Given the description of an element on the screen output the (x, y) to click on. 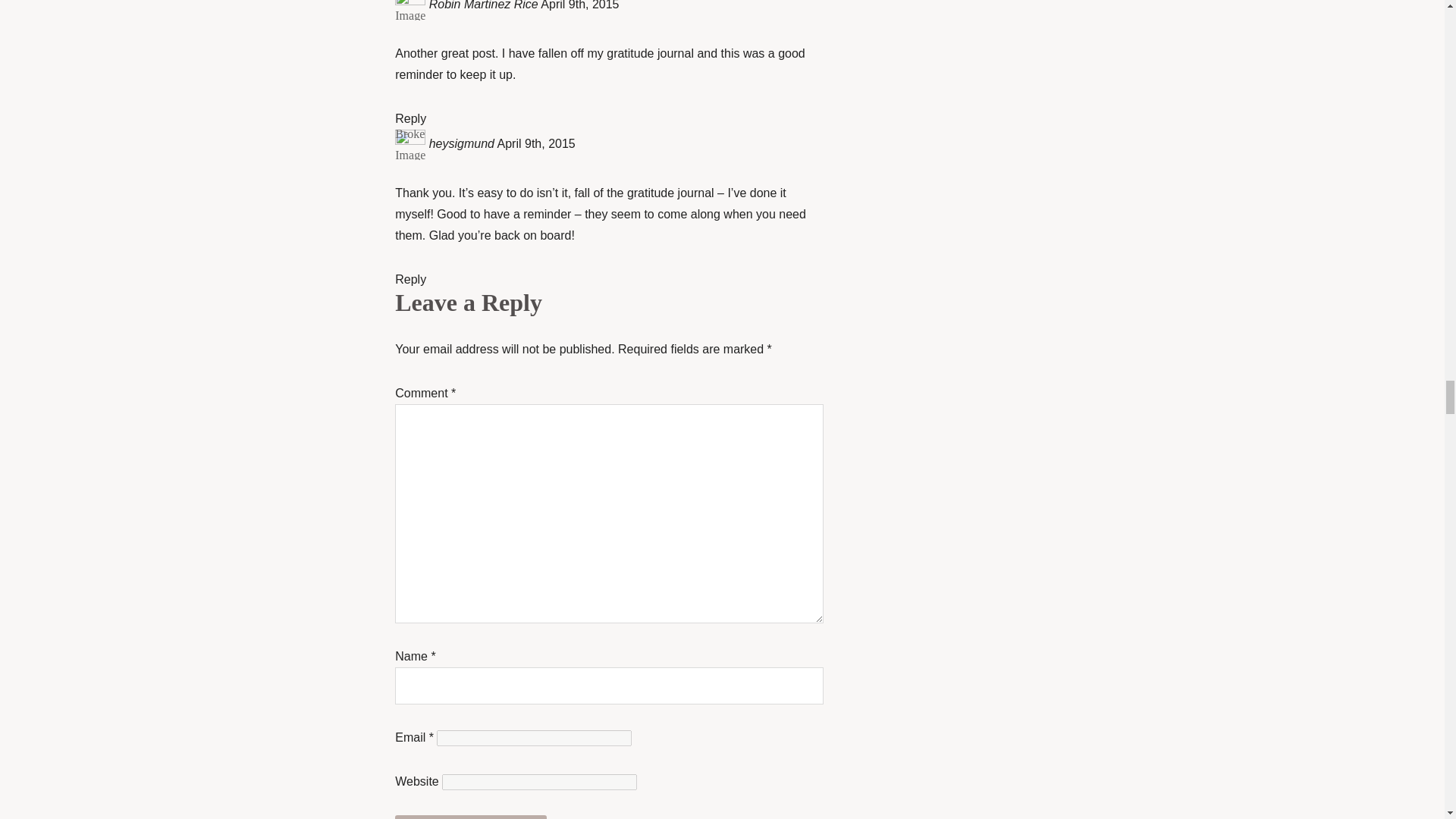
Post Comment (470, 816)
